Given the description of an element on the screen output the (x, y) to click on. 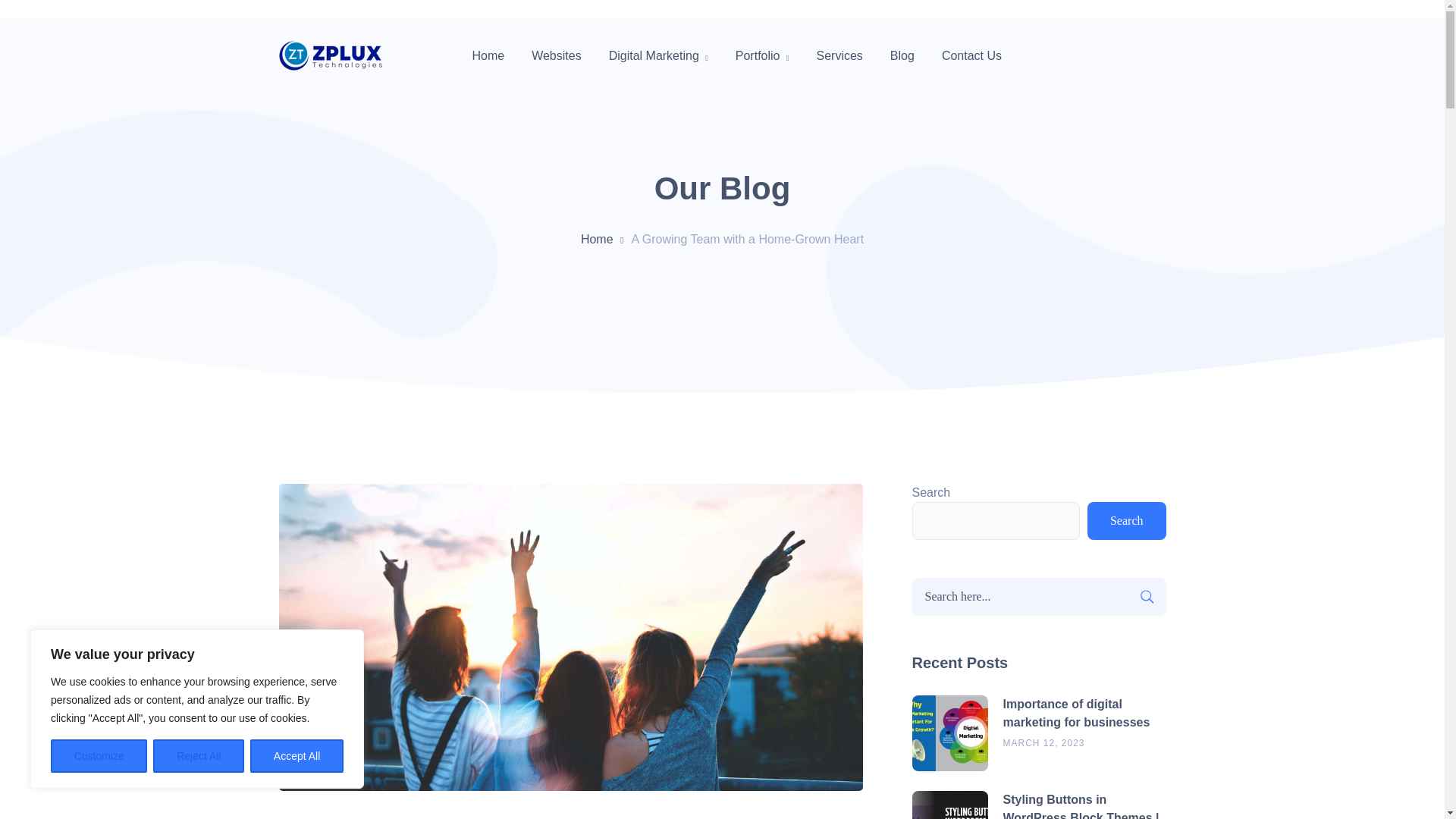
Search (1147, 596)
Customize (98, 756)
Reject All (198, 756)
0 Comments (412, 817)
Accept All (296, 756)
Digital Marketing (657, 56)
Home (605, 239)
Search for: (1038, 596)
Zplux Technologies (338, 55)
